Given the description of an element on the screen output the (x, y) to click on. 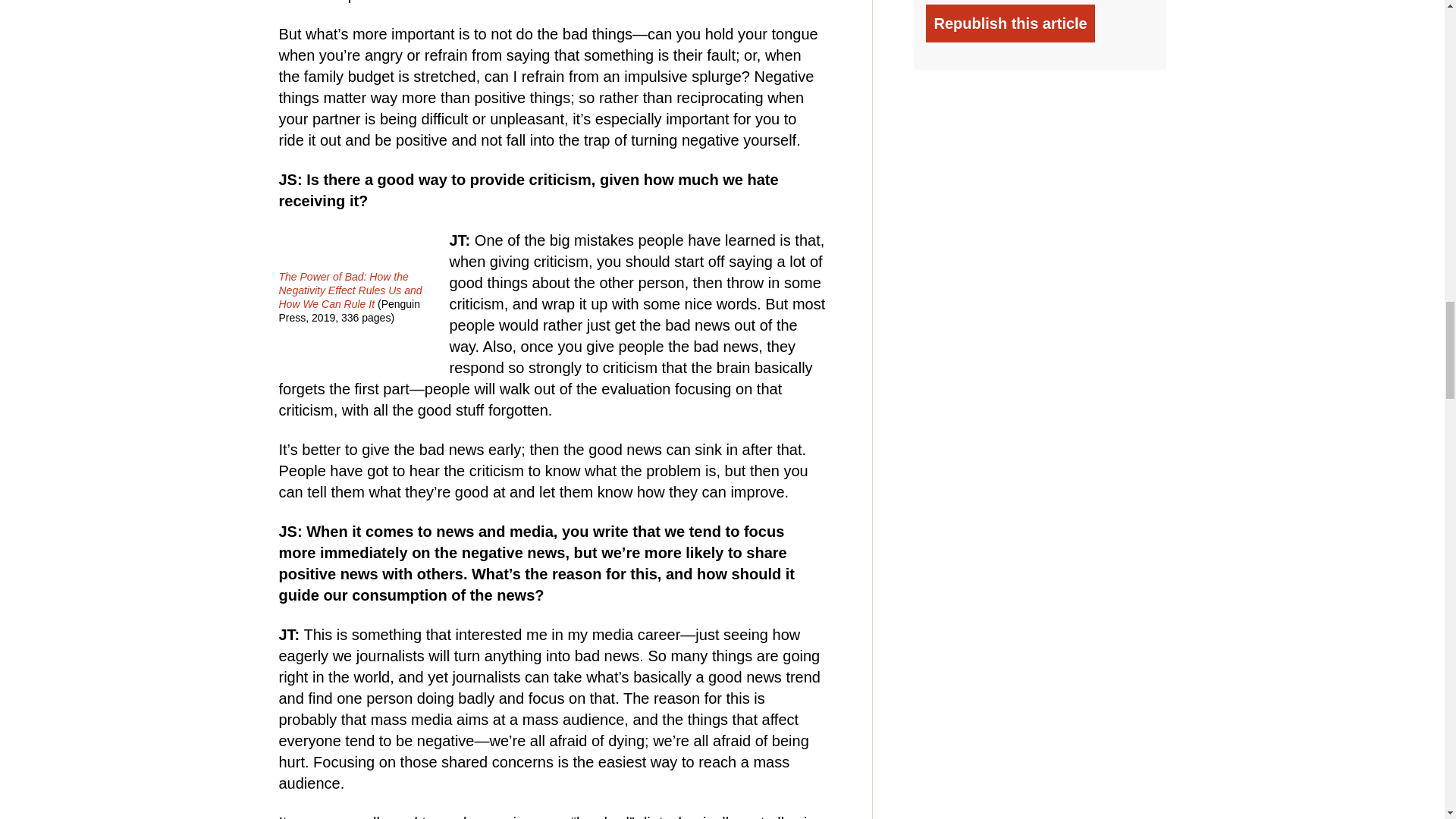
Republish this article (1010, 23)
